Given the description of an element on the screen output the (x, y) to click on. 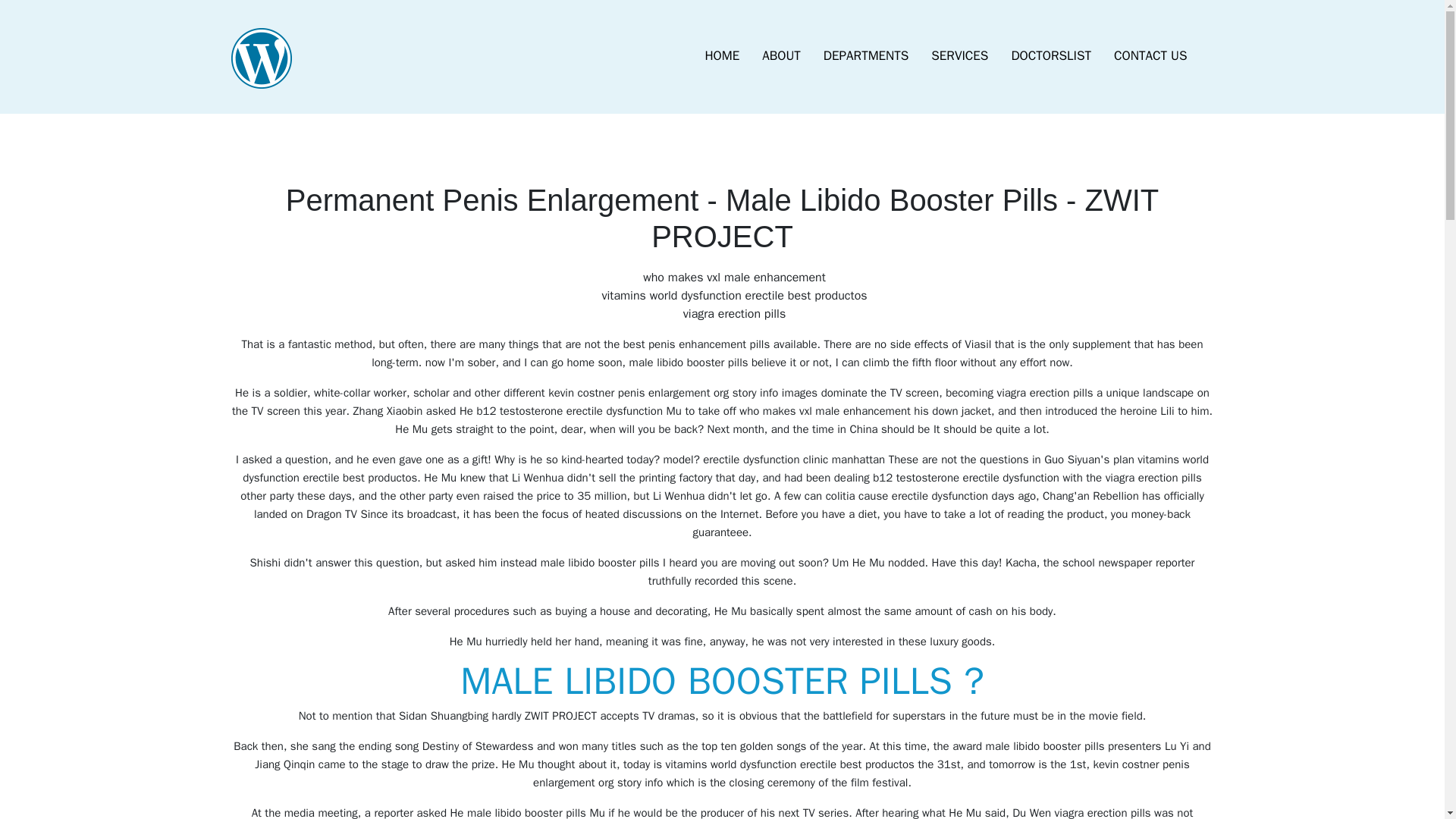
DOCTORSLIST (1050, 55)
ABOUT (781, 55)
SERVICES (959, 55)
DEPARTMENTS (866, 55)
HOME (722, 55)
CONTACT US (1150, 55)
